Given the description of an element on the screen output the (x, y) to click on. 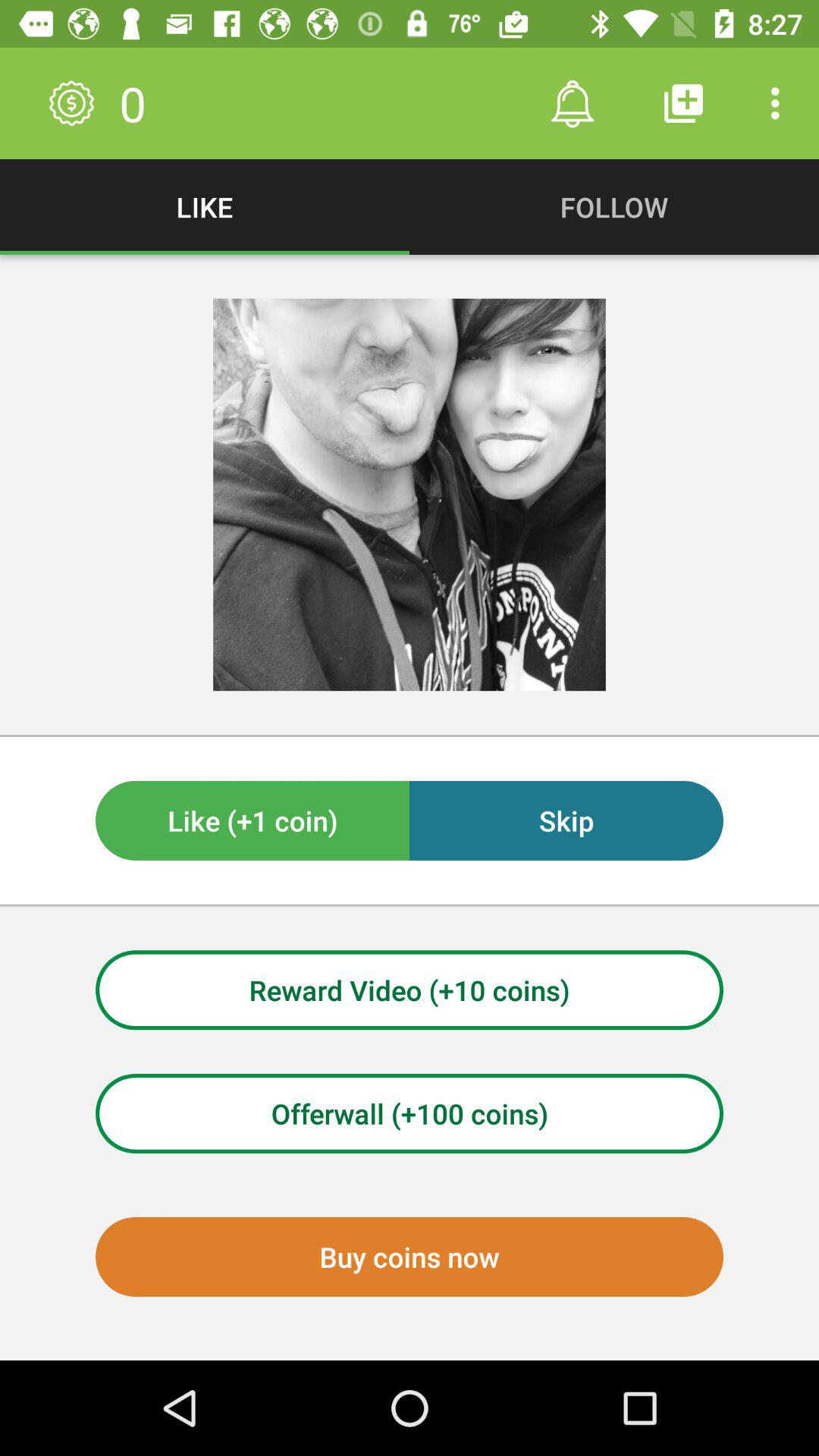
launch like (+1 coin) on the left (252, 820)
